Given the description of an element on the screen output the (x, y) to click on. 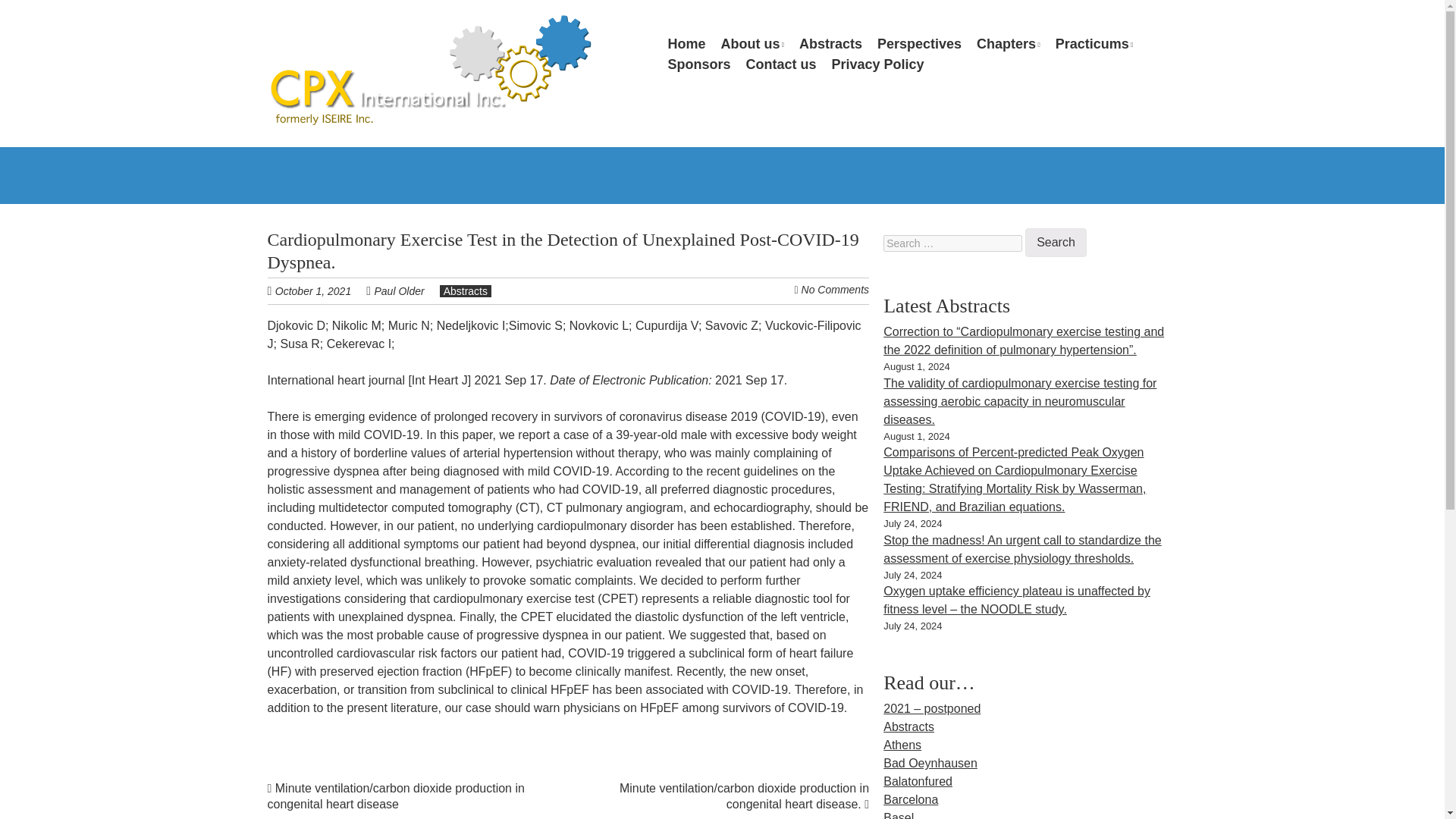
Practicums (1094, 44)
Search (1055, 242)
Abstracts (465, 291)
Abstracts (830, 44)
Privacy Policy (877, 64)
Sponsors (698, 64)
Perspectives (918, 44)
No Comments (835, 289)
Paul Older (399, 291)
